Given the description of an element on the screen output the (x, y) to click on. 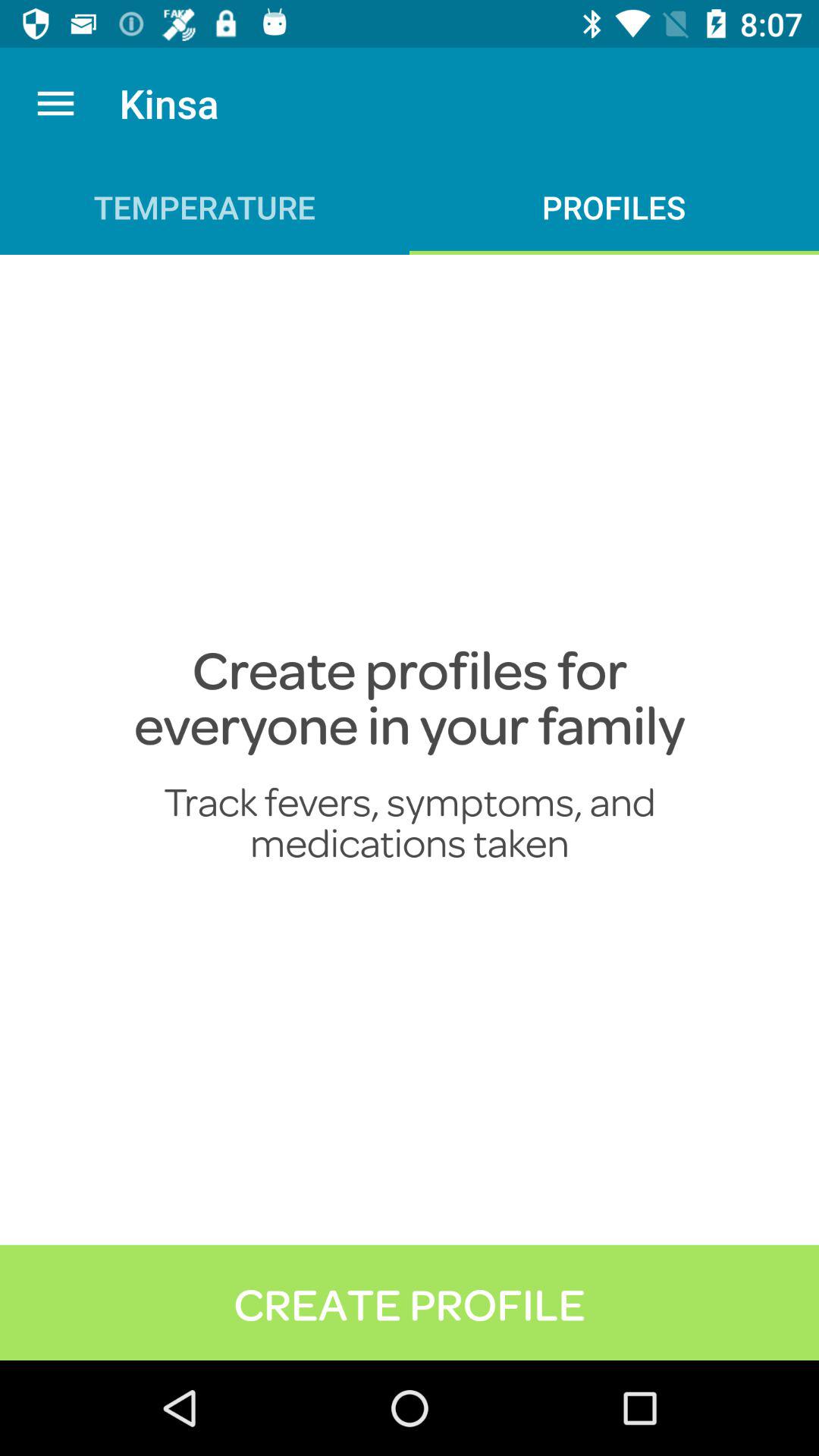
choose the item next to kinsa app (55, 103)
